Given the description of an element on the screen output the (x, y) to click on. 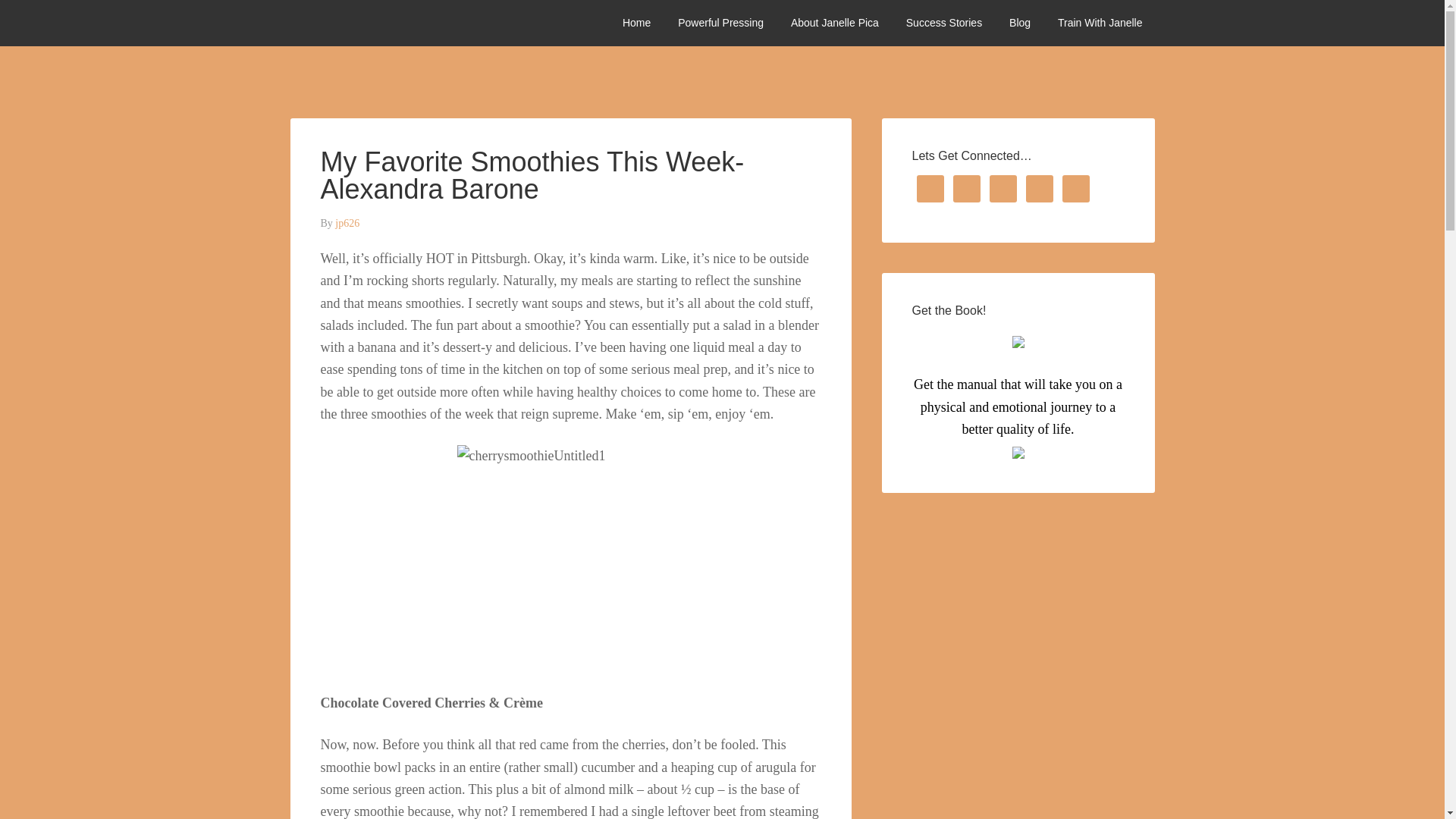
Success Stories (943, 22)
About Janelle Pica (834, 22)
Train With Janelle (1099, 22)
Blog (1019, 22)
Powerful Pressing (720, 22)
jp626 (346, 223)
JANELLE PICA (402, 22)
Home (636, 22)
